Given the description of an element on the screen output the (x, y) to click on. 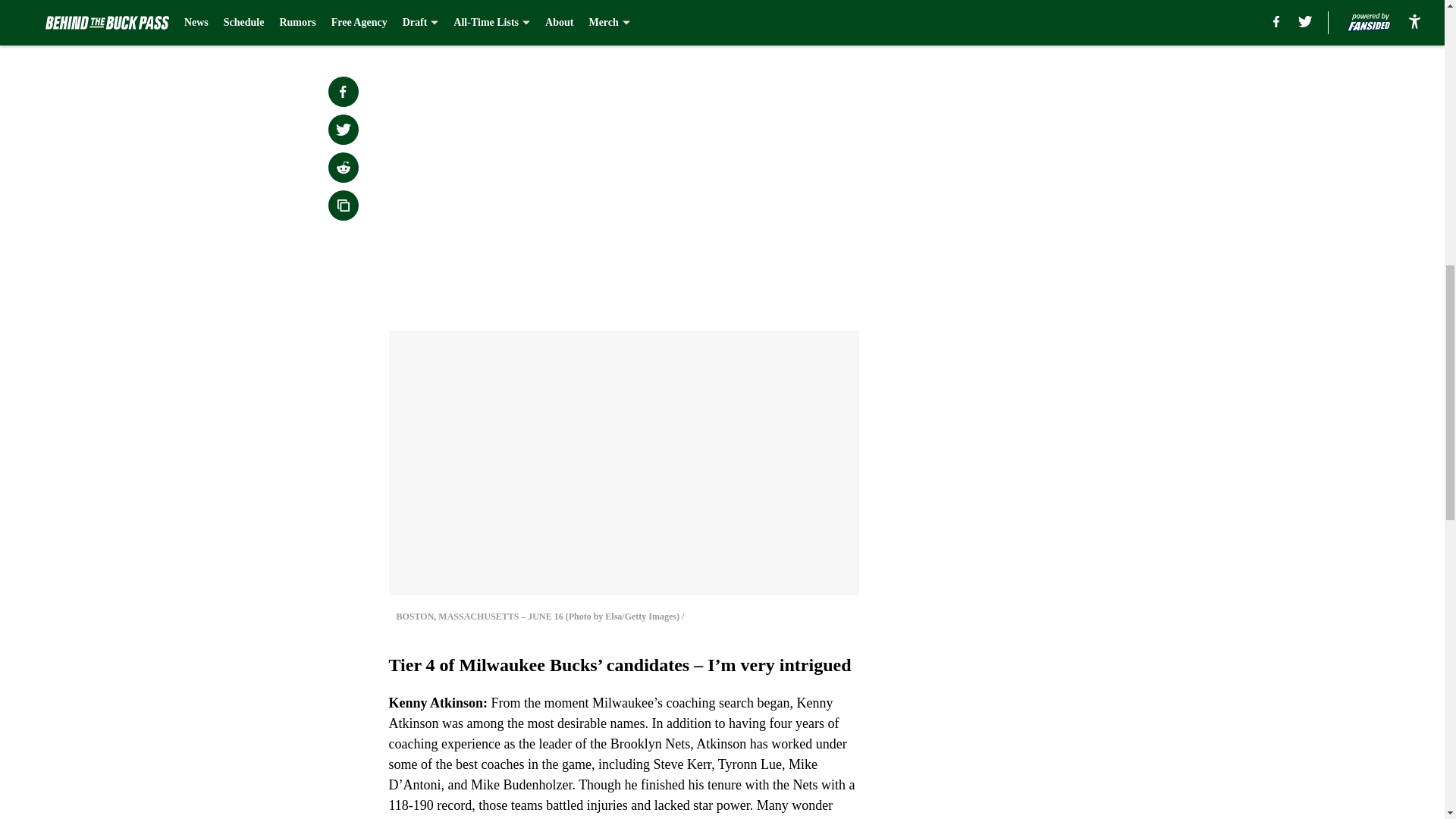
Next (813, 20)
Prev (433, 20)
